Given the description of an element on the screen output the (x, y) to click on. 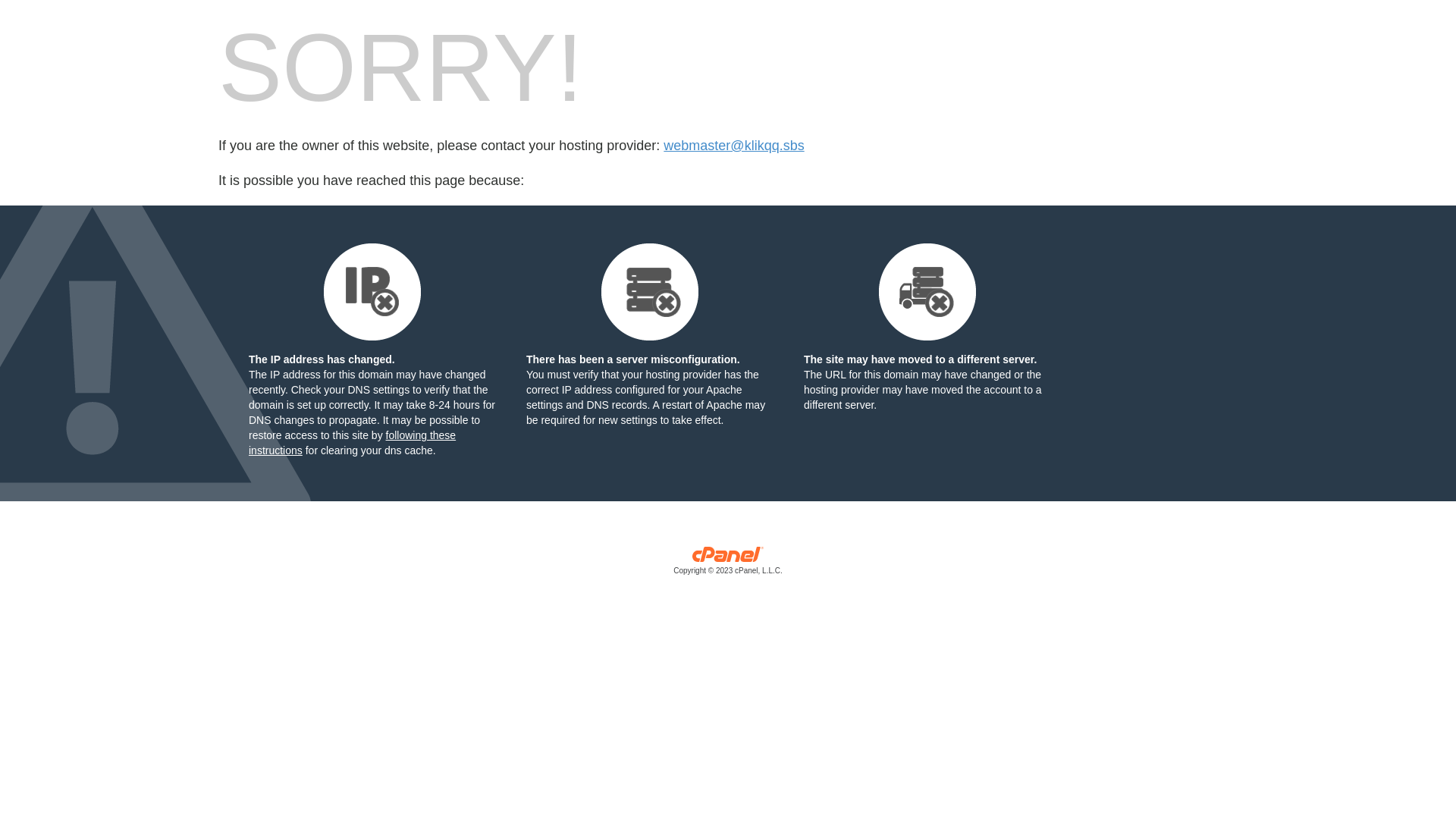
webmaster@klikqq.sbs Element type: text (733, 145)
following these instructions Element type: text (351, 442)
